Given the description of an element on the screen output the (x, y) to click on. 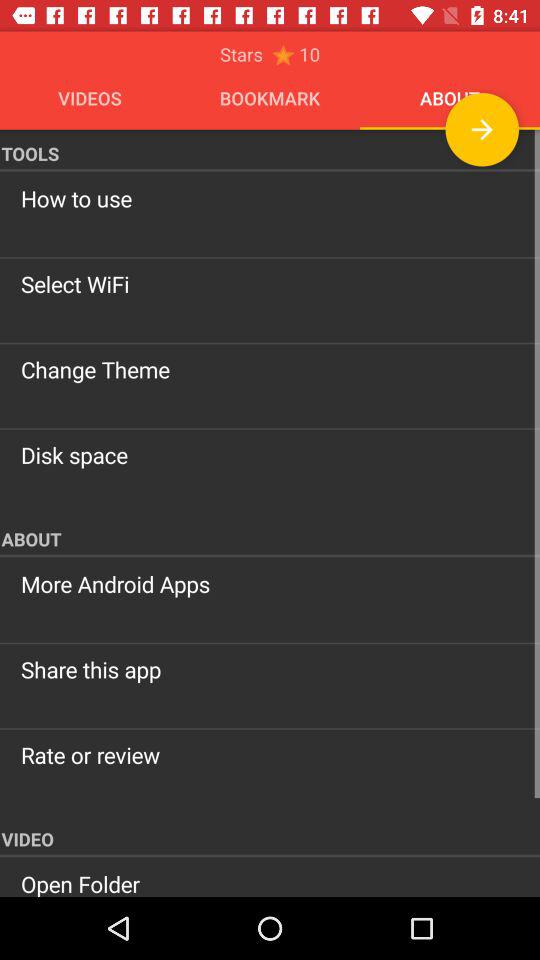
scroll to the share this app item (270, 669)
